Given the description of an element on the screen output the (x, y) to click on. 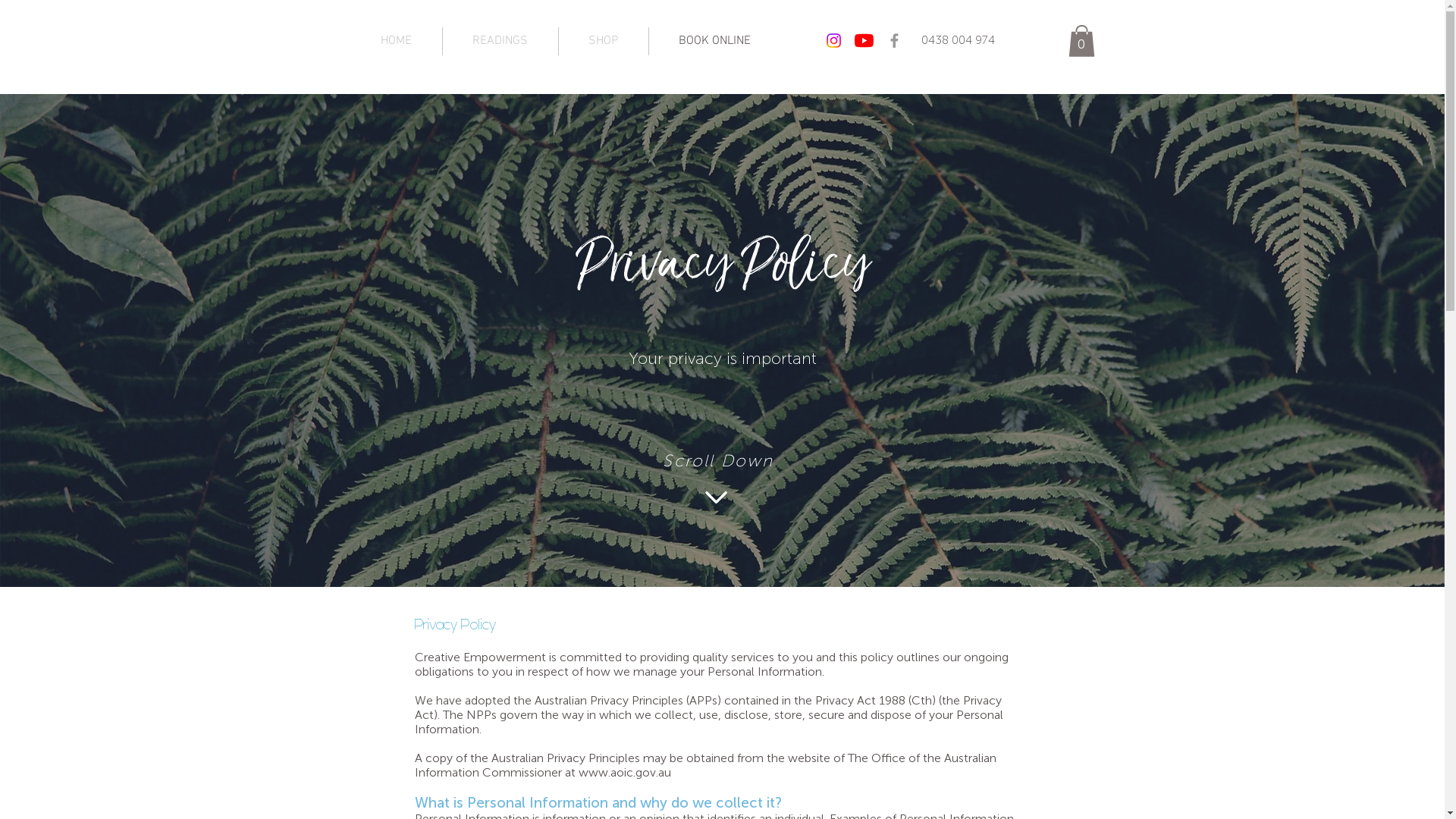
HOME Element type: text (395, 41)
BOOK ONLINE Element type: text (715, 41)
SHOP Element type: text (602, 41)
0438 004 974 Element type: text (957, 40)
0 Element type: text (1080, 40)
www.aoic.gov.au Element type: text (623, 772)
READINGS Element type: text (500, 41)
